Given the description of an element on the screen output the (x, y) to click on. 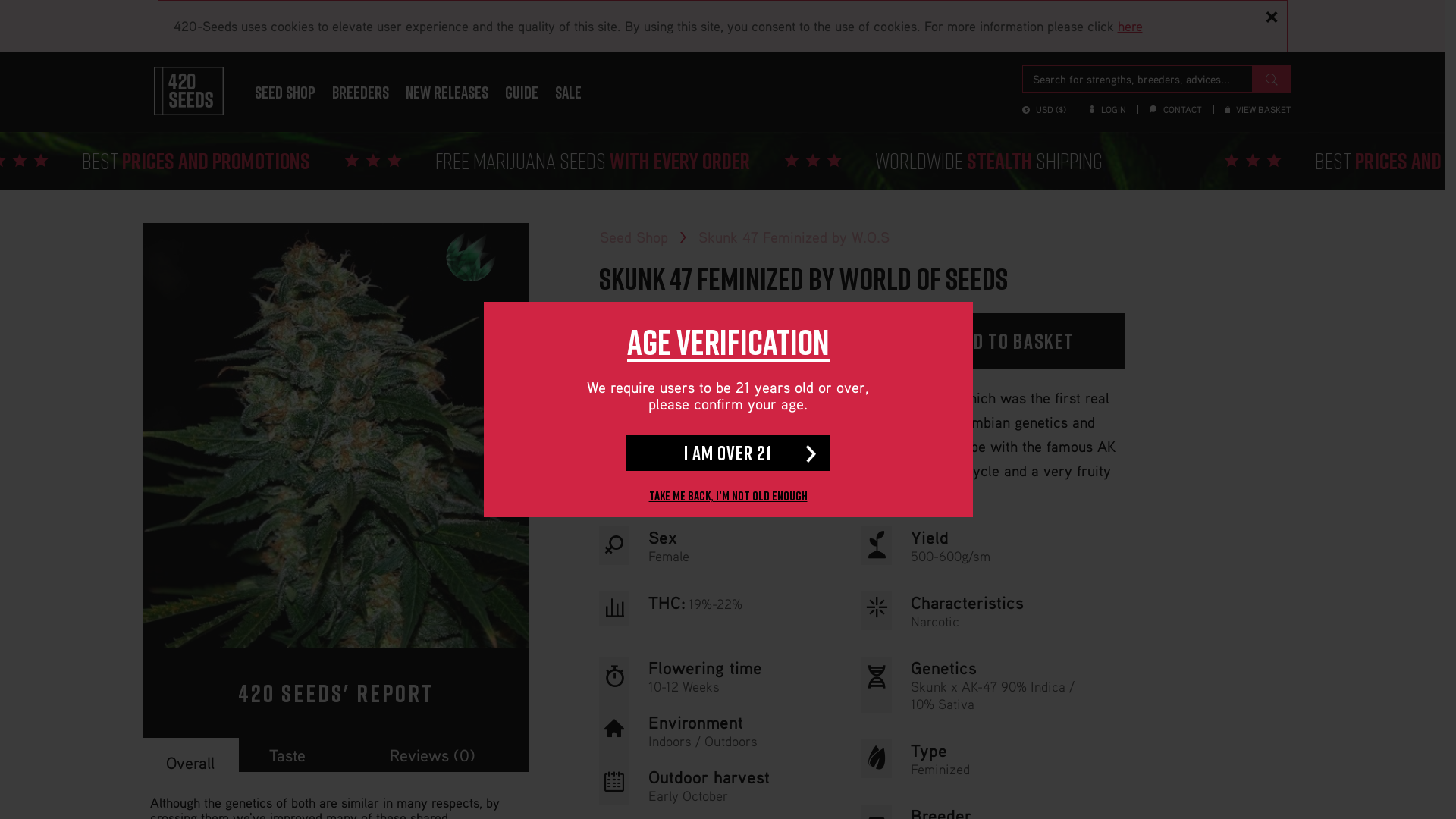
VIEW BASKET Element type: text (1258, 109)
Taste Element type: text (286, 754)
GUIDE Element type: text (520, 91)
LOGIN Element type: text (1106, 109)
NEW RELEASES Element type: text (446, 91)
Reviews (0) Element type: text (431, 754)
SALE Element type: text (567, 91)
Search Element type: hover (1270, 78)
Seed Shop Element type: text (633, 236)
Marijuana seeds from 420-The best quality F1 Marijuana seeds Element type: hover (187, 90)
CONTACT Element type: text (1175, 109)
Skunk 47 by W.O.S. Seeds Element type: hover (335, 435)
SEED SHOP Element type: text (284, 91)
Overall Element type: text (190, 758)
ADD TO BASKET Element type: text (996, 340)
here Element type: text (1129, 25)
BREEDERS Element type: text (359, 91)
I AM OVER 21 Element type: text (727, 452)
